Given the description of an element on the screen output the (x, y) to click on. 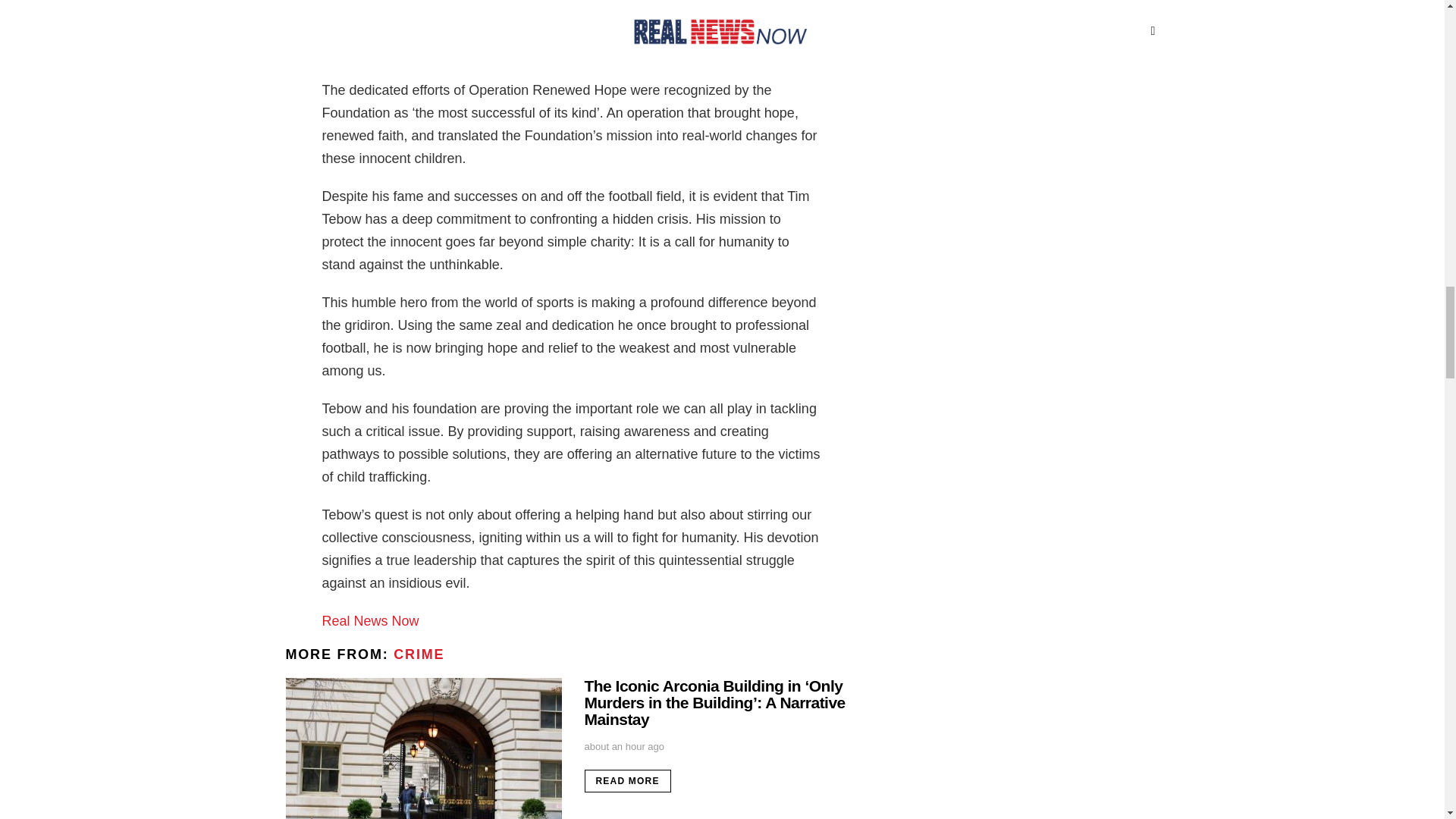
READ MORE (626, 780)
August 29, 2024, 8:00 pm (623, 746)
Real News Now (370, 620)
CRIME (418, 654)
